Given the description of an element on the screen output the (x, y) to click on. 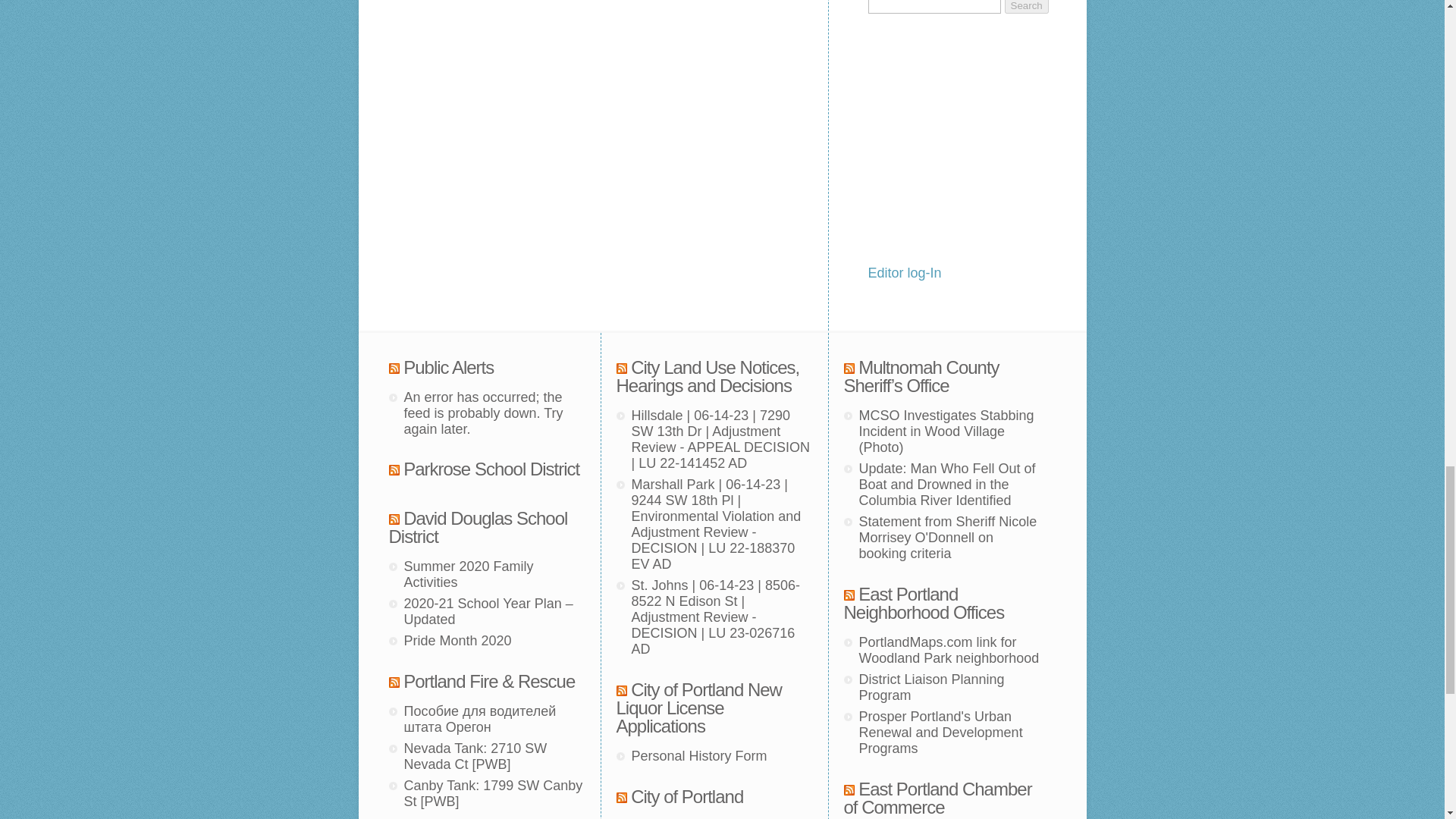
Learning Today for Living Tomorrow (477, 527)
PDF Document, 6,473kbCategory: Southwest Portland (492, 793)
PDF Document, 228kbCategory: Southwest Portland (475, 756)
Portland Police Bureau (489, 680)
Search (1026, 6)
